Given the description of an element on the screen output the (x, y) to click on. 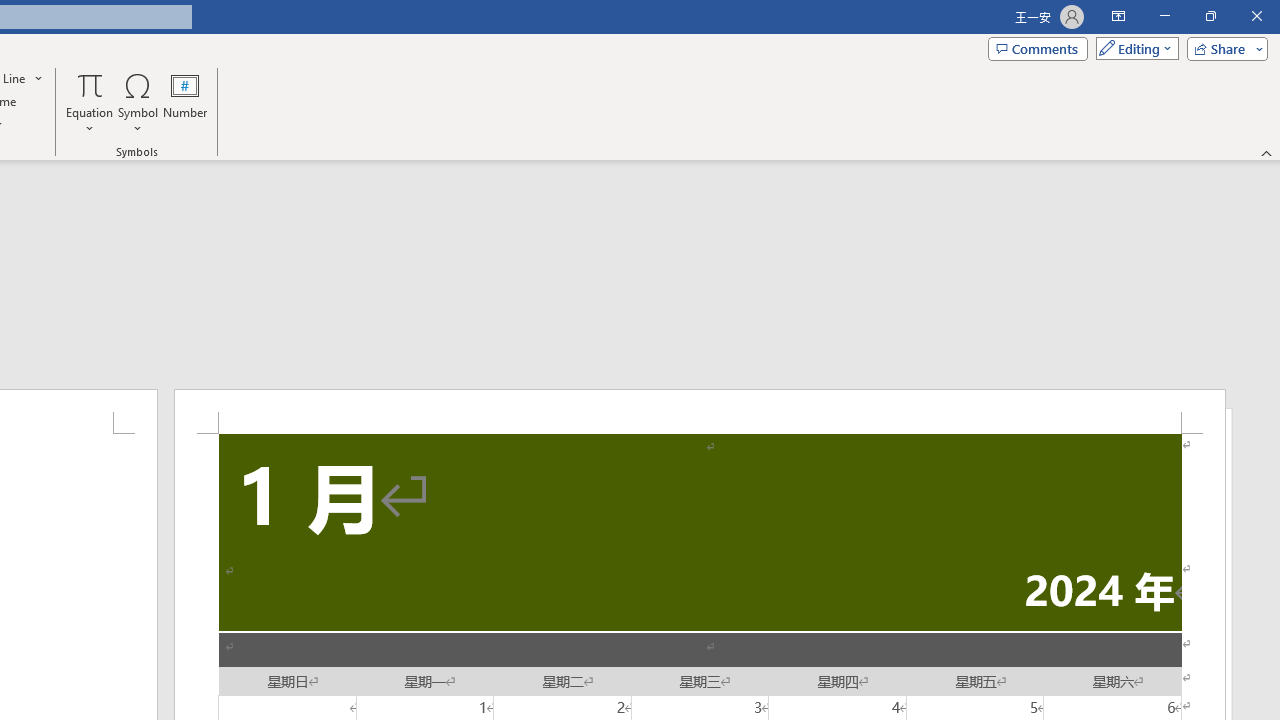
Symbol (138, 102)
